Given the description of an element on the screen output the (x, y) to click on. 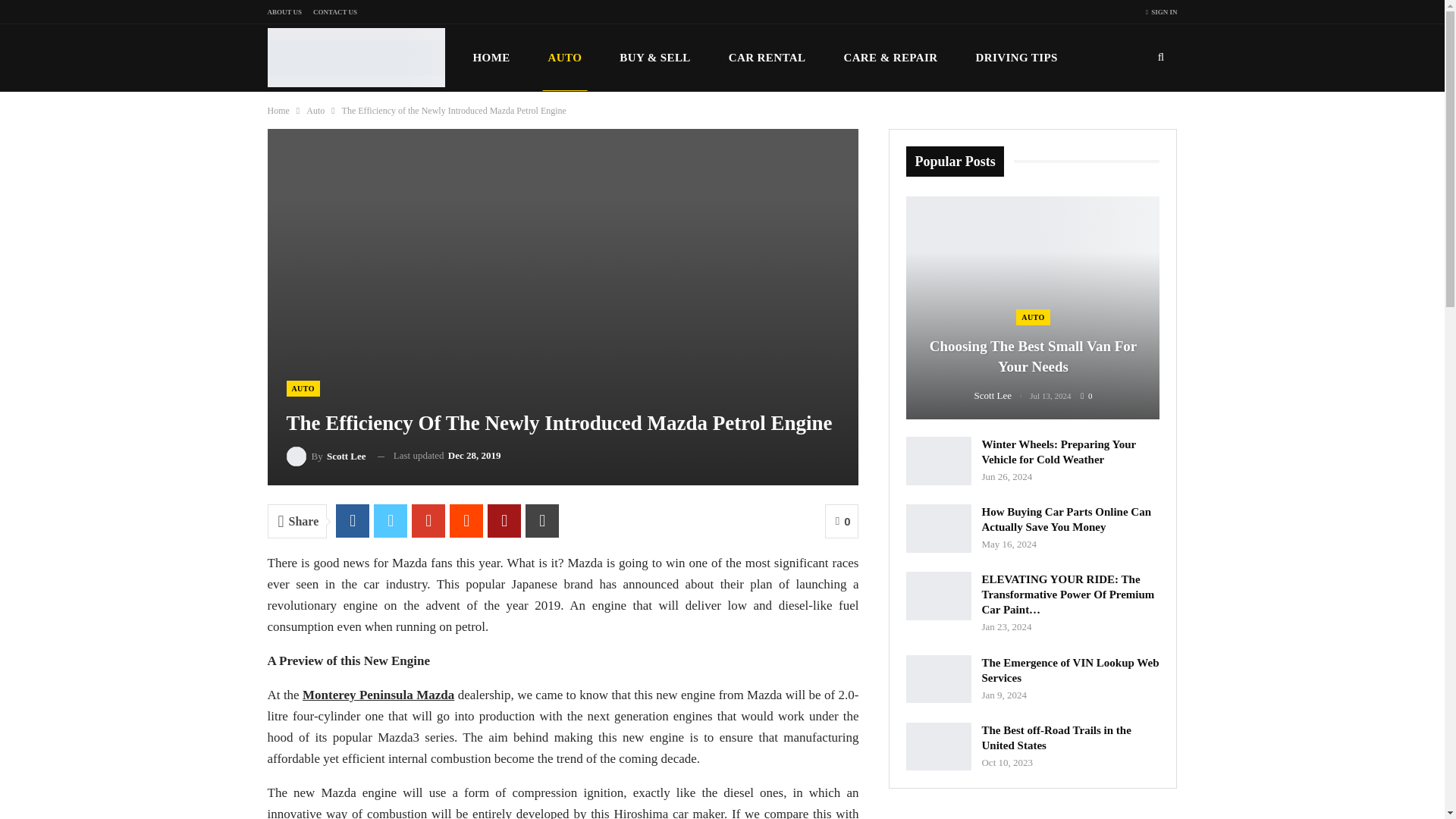
DRIVING TIPS (1016, 57)
CAR RENTAL (766, 57)
SIGN IN (1161, 12)
Auto (314, 110)
Browse Author Articles (1002, 395)
Winter Wheels: Preparing Your Vehicle for Cold Weather (938, 460)
Home (277, 110)
By Scott Lee (326, 455)
ABOUT US (283, 11)
0 (842, 521)
CONTACT US (334, 11)
AUTO (303, 388)
Browse Author Articles (326, 455)
Choosing the Best Small Van for Your Needs (1032, 307)
